Given the description of an element on the screen output the (x, y) to click on. 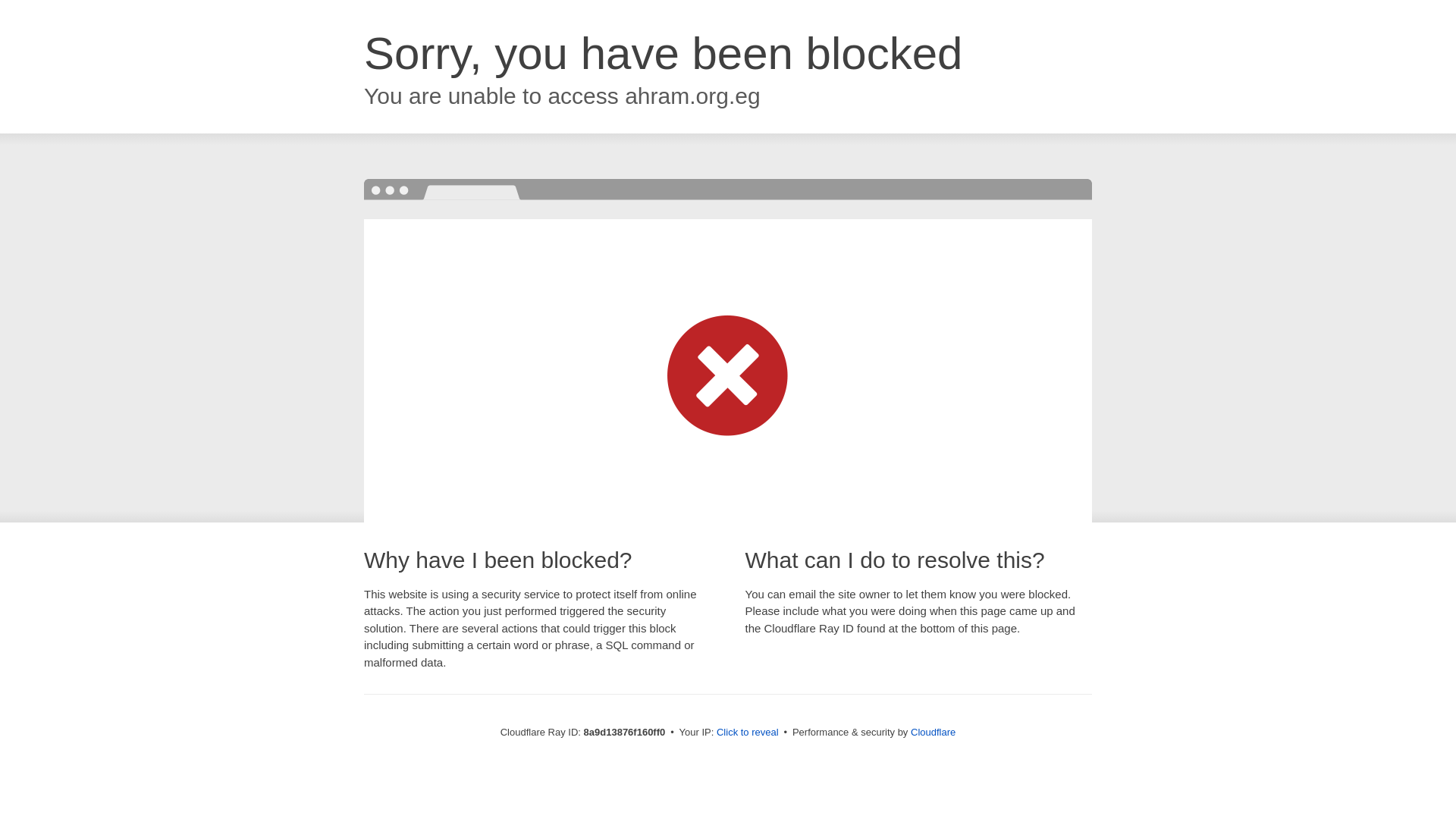
Cloudflare (933, 731)
Click to reveal (747, 732)
